Given the description of an element on the screen output the (x, y) to click on. 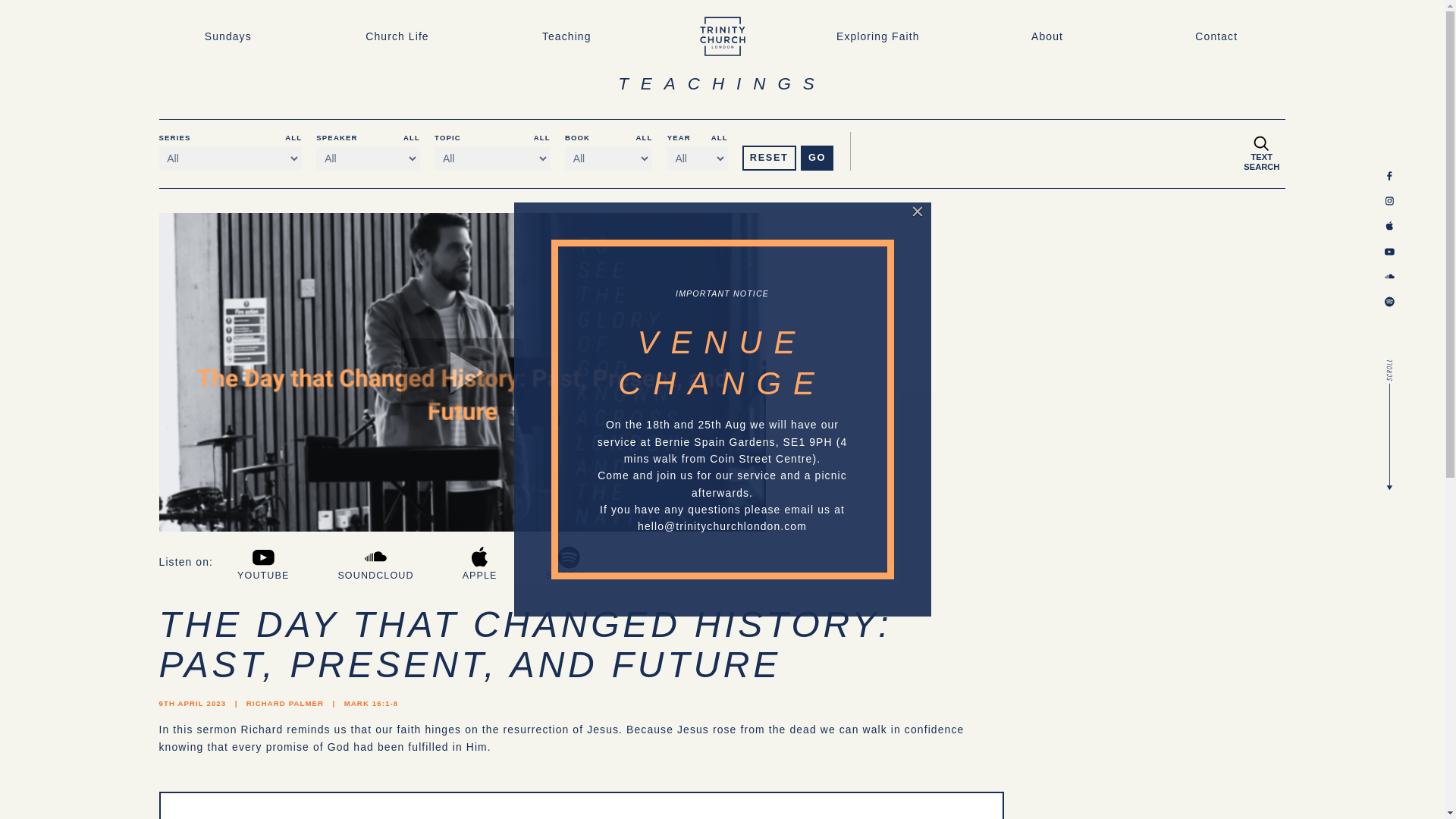
ALL (643, 137)
ALL (542, 137)
GO (1030, 187)
ALL (719, 137)
TOPIC (447, 137)
YEAR (678, 137)
SERIES (174, 137)
Exploring Faith (877, 36)
Contact (1216, 36)
ALL (293, 137)
